Given the description of an element on the screen output the (x, y) to click on. 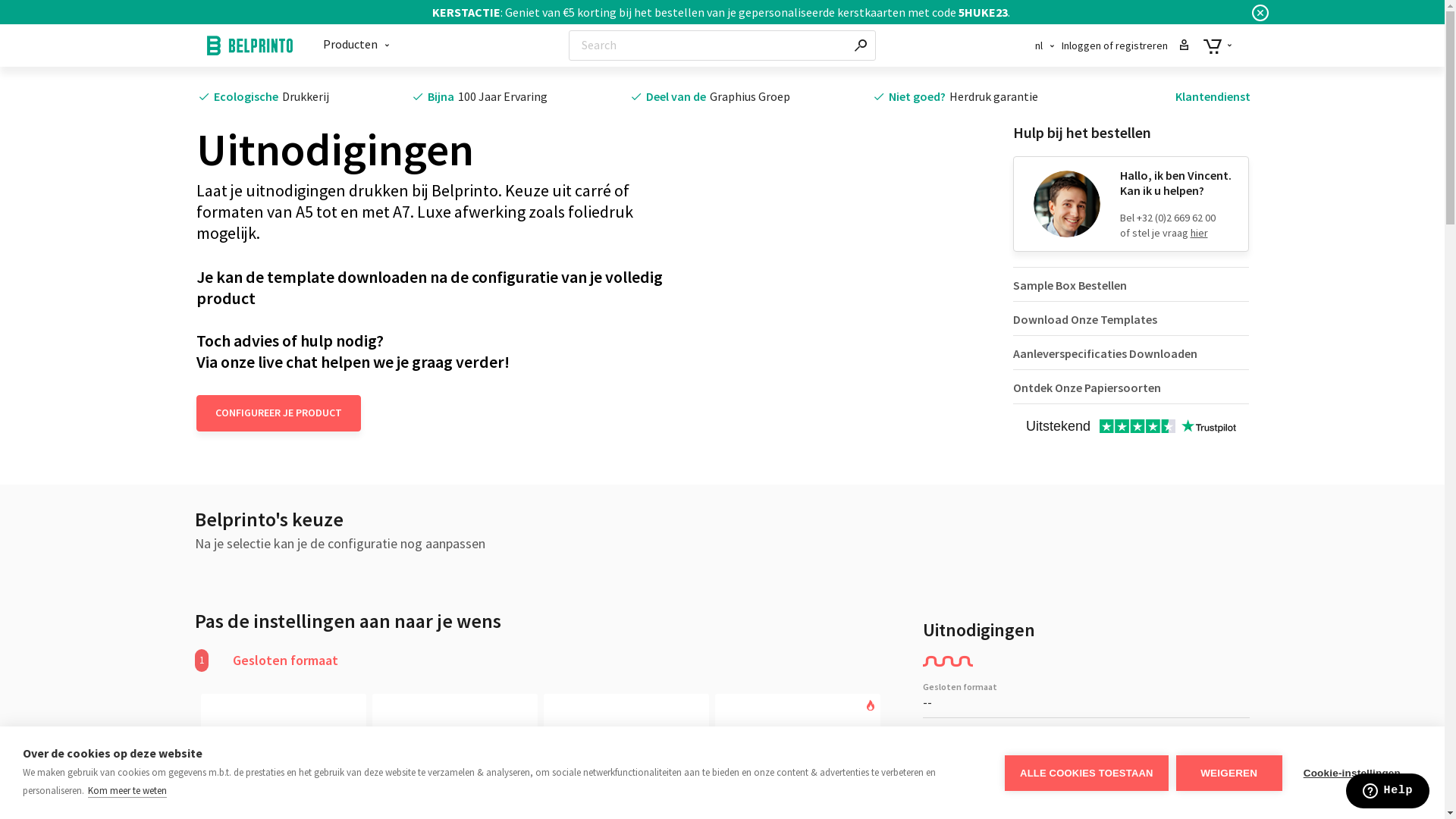
Sample Box Bestellen Element type: text (1130, 284)
CONFIGUREER JE PRODUCT Element type: text (277, 413)
Opent een widget waar u meer informatie kunt vinden Element type: hover (1387, 792)
Cookie-instellingen Element type: text (1351, 772)
hier Element type: text (1199, 232)
Inloggen of registreren Element type: text (1124, 45)
Aanleverspecificaties Downloaden Element type: text (1130, 352)
Customer reviews powered by Trustpilot Element type: hover (1130, 428)
1
Gesloten formaat Element type: text (372, 660)
Klantendienst Element type: text (1212, 95)
Belprinto Graphius Element type: hover (248, 45)
Kom meer te weten Element type: text (126, 790)
ALLE COOKIES TOESTAAN Element type: text (1086, 772)
Ontdek Onze Papiersoorten Element type: text (1130, 386)
Download Onze Templates Element type: text (1130, 318)
WEIGEREN Element type: text (1229, 772)
